Given the description of an element on the screen output the (x, y) to click on. 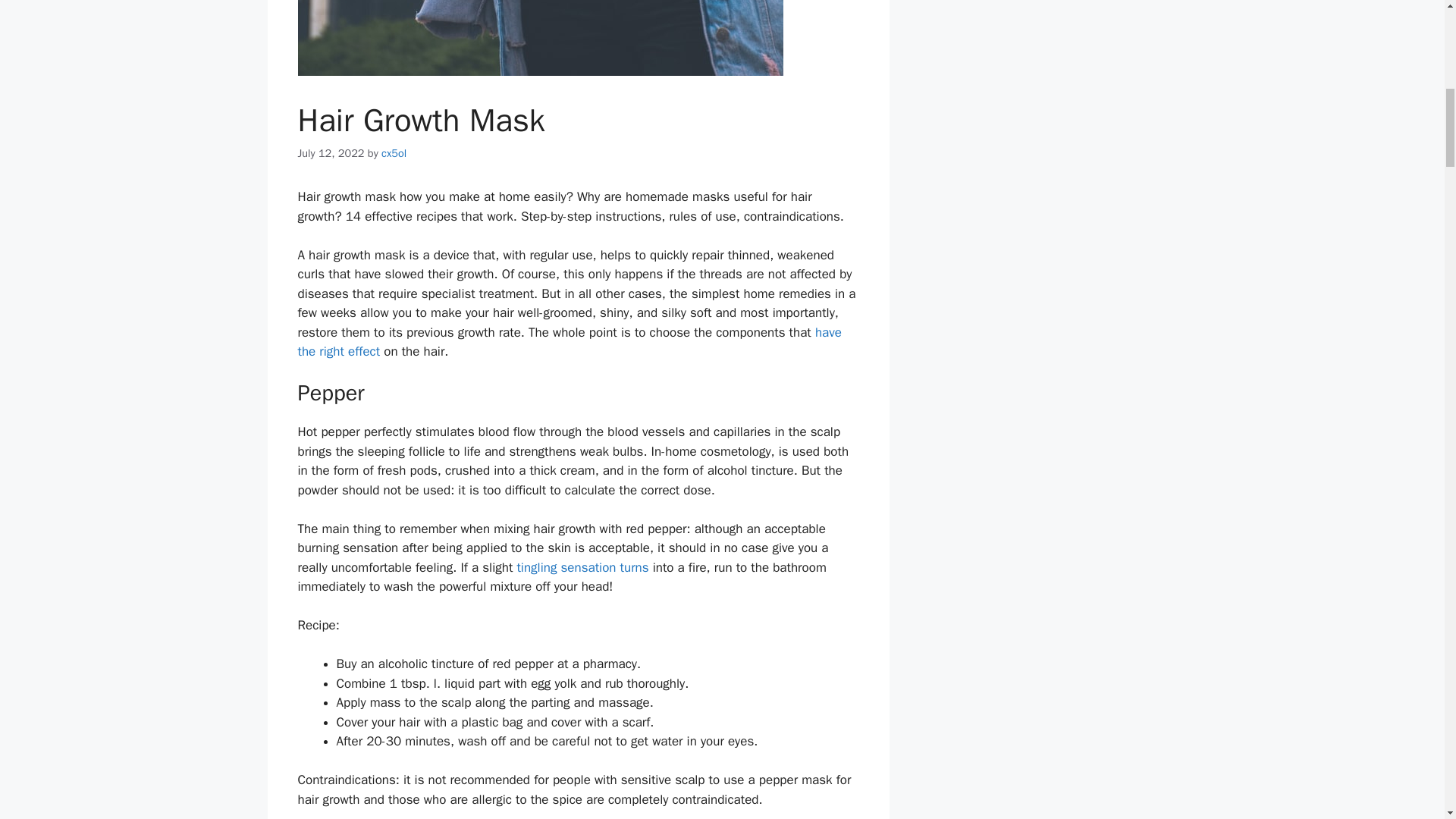
View all posts by cx5ol (393, 152)
tingling sensation turns (579, 567)
have the right effect (569, 342)
cx5ol (393, 152)
